Given the description of an element on the screen output the (x, y) to click on. 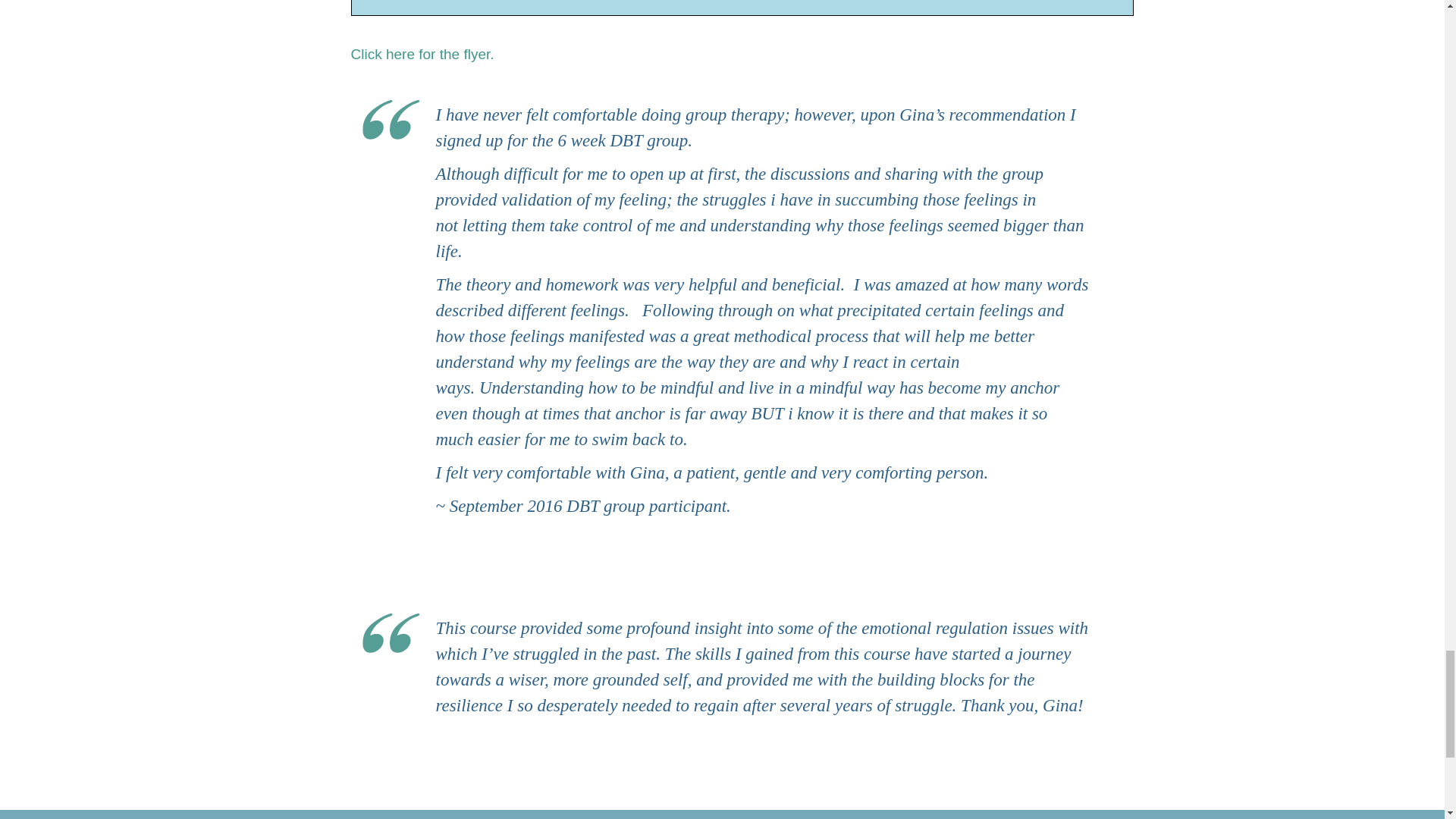
Click here for the flyer. (421, 53)
